Given the description of an element on the screen output the (x, y) to click on. 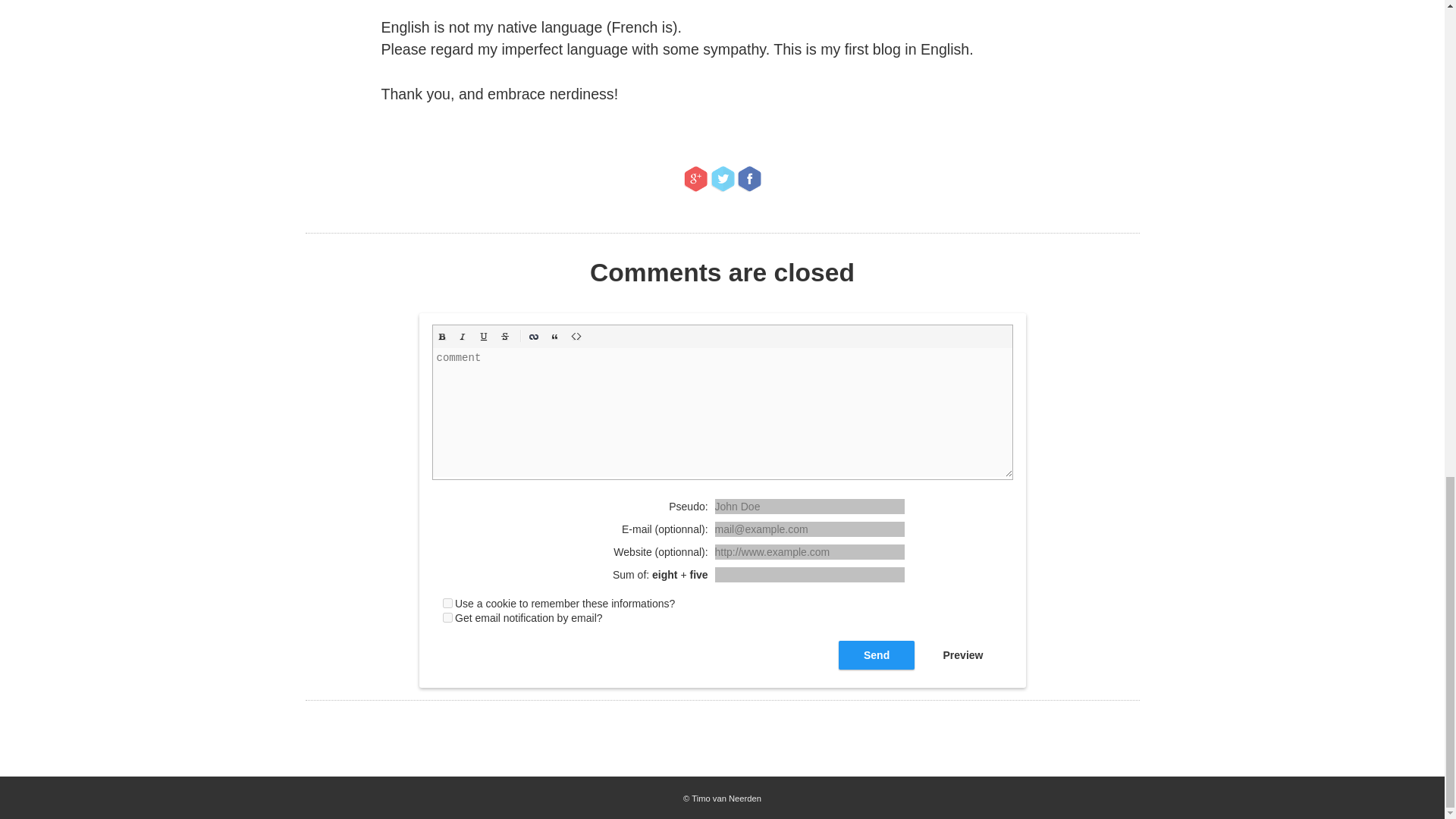
Insert a link (533, 336)
Send (876, 654)
Italic (461, 336)
on (447, 603)
Insert a quote (555, 336)
on (447, 617)
Partager sur Facebook (748, 179)
Preview (962, 654)
Insert formated code (576, 336)
Underline (483, 336)
Send (876, 654)
Line-through (504, 336)
Partager sur Twitter (721, 179)
Preview (962, 654)
Bold (440, 336)
